Given the description of an element on the screen output the (x, y) to click on. 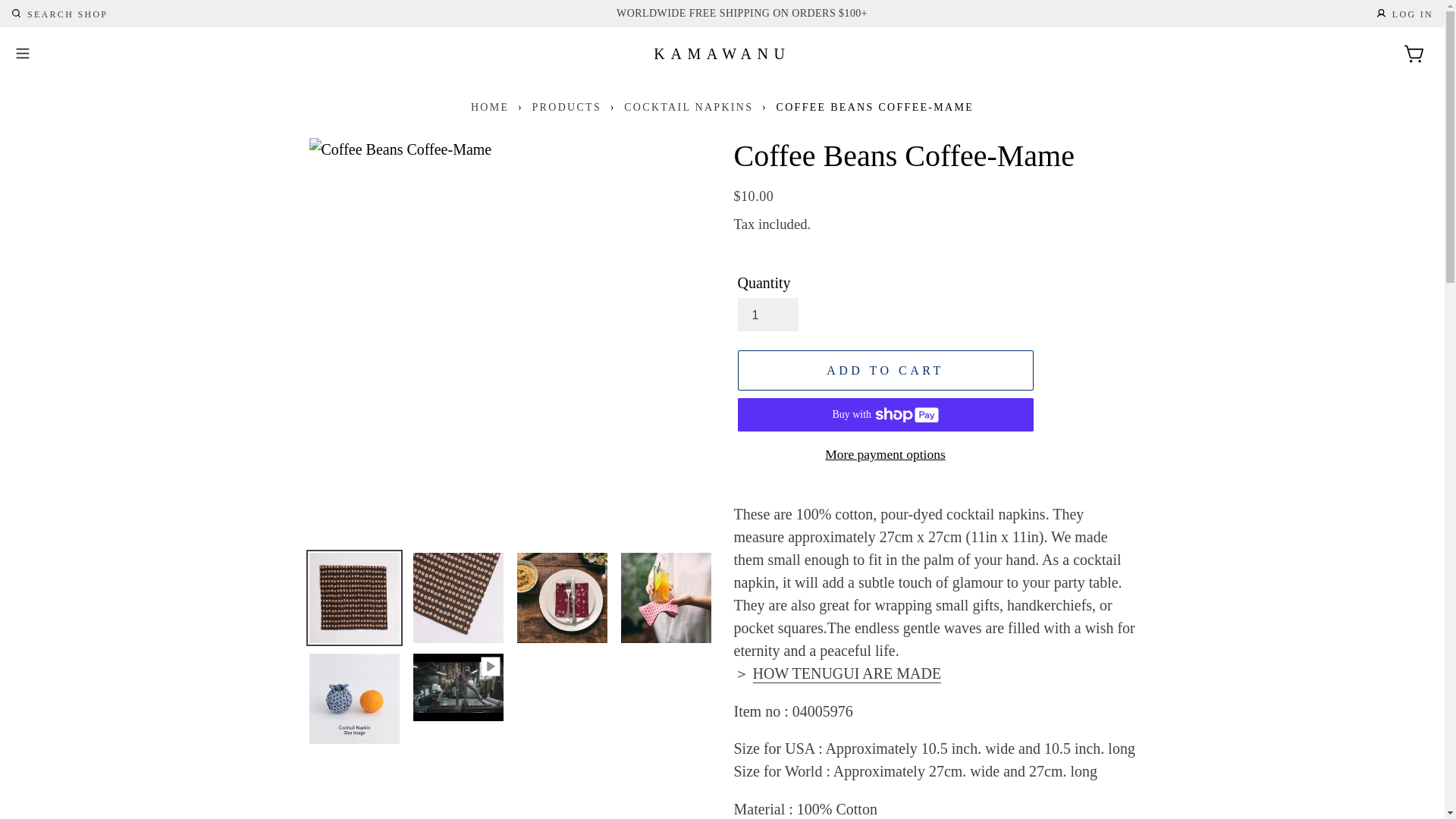
KAMAWANU (721, 53)
Cart (1415, 54)
1 (56, 13)
